Given the description of an element on the screen output the (x, y) to click on. 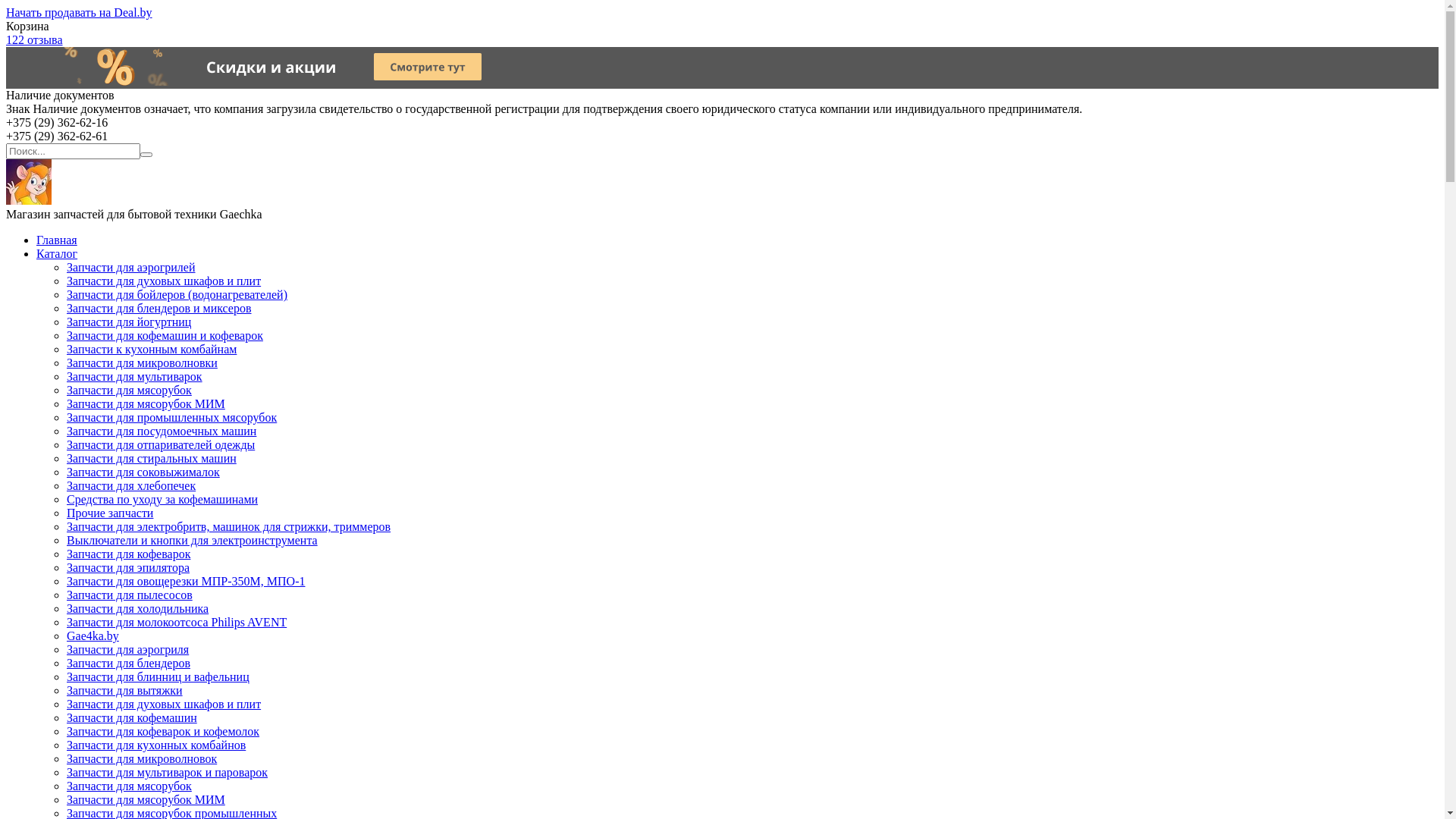
Gae4ka.by Element type: text (92, 635)
Gaechka Element type: hover (28, 200)
